Given the description of an element on the screen output the (x, y) to click on. 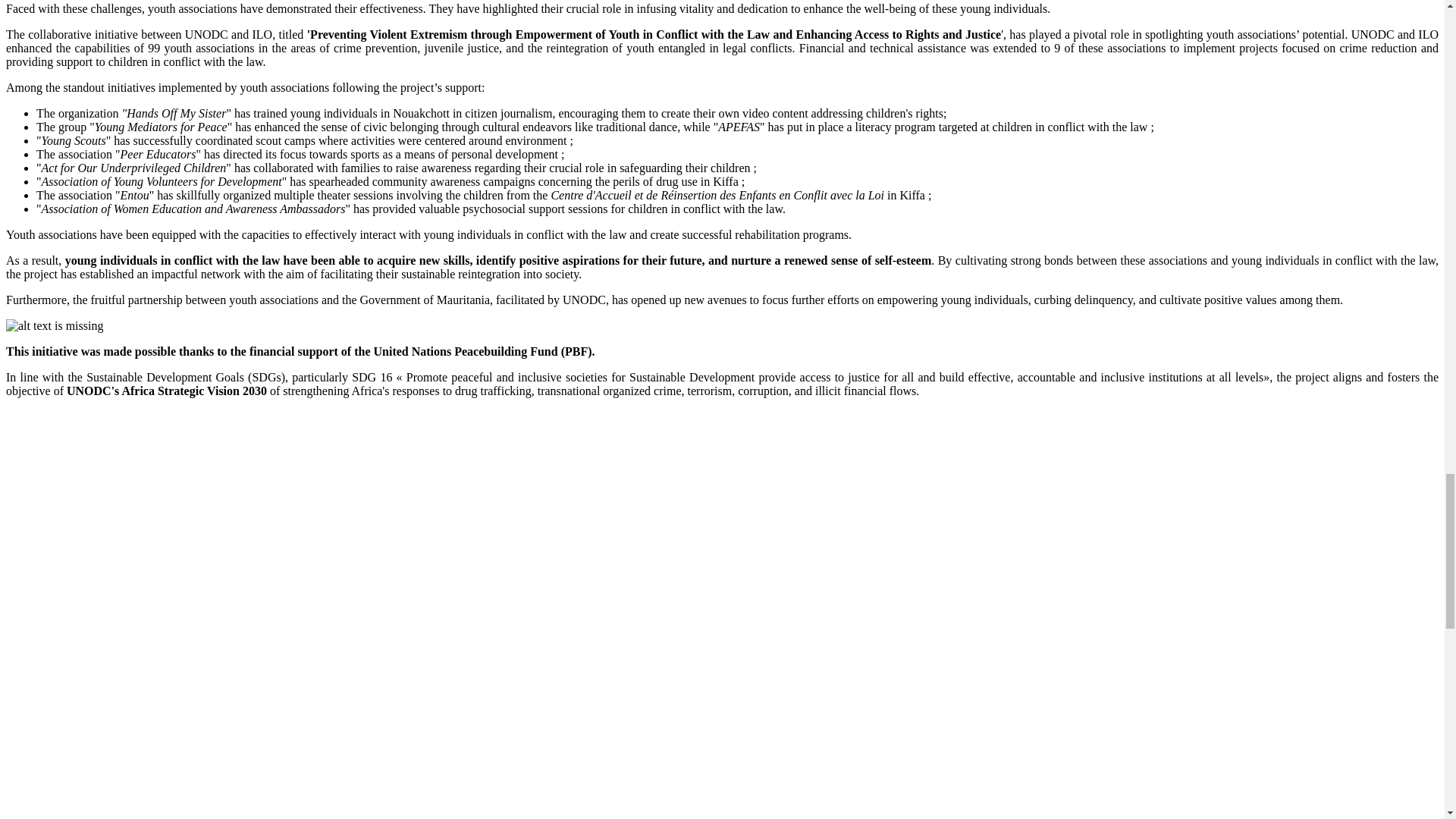
alt text is missing (54, 325)
